Given the description of an element on the screen output the (x, y) to click on. 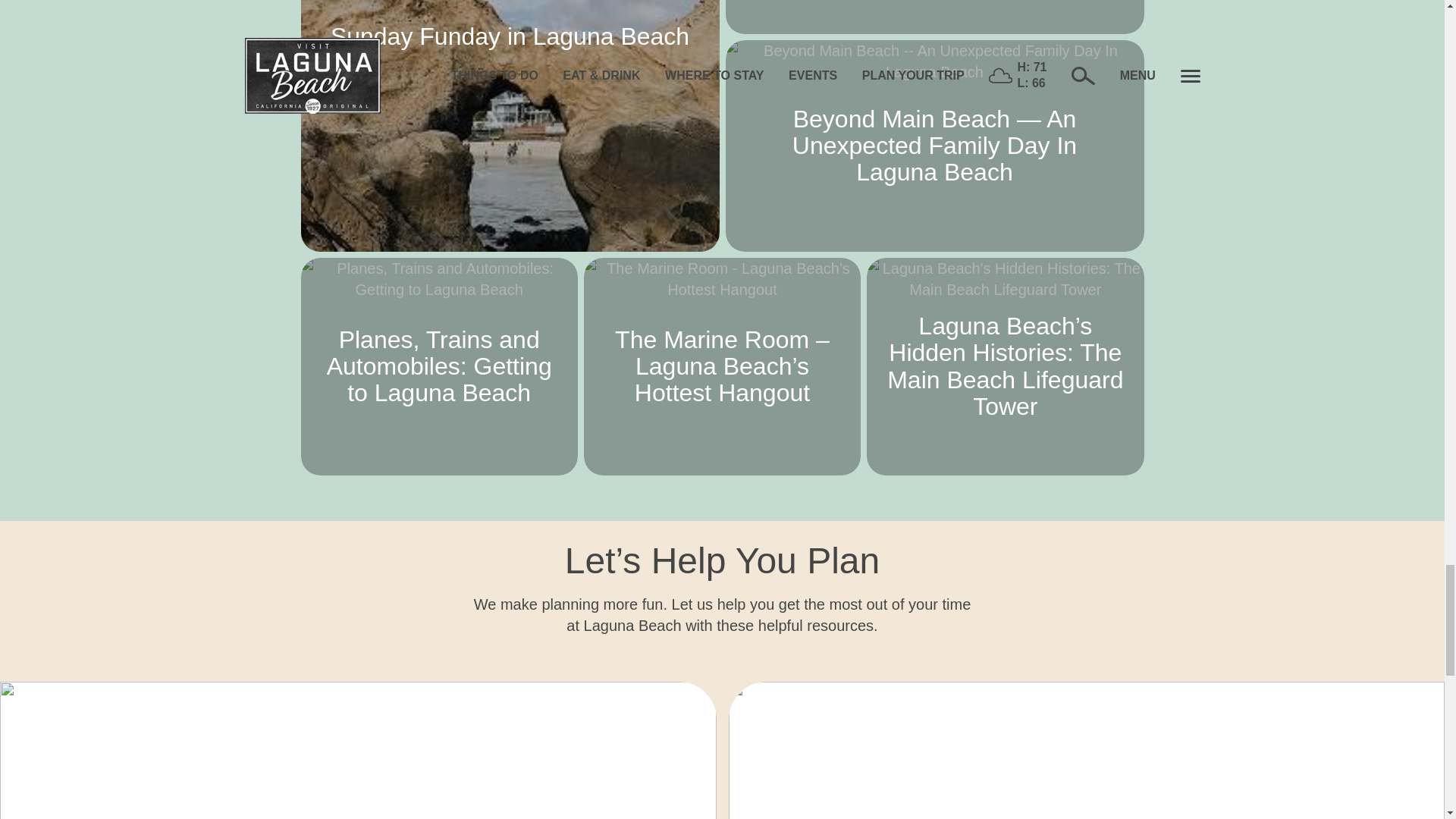
Planes, Trains and Automobiles: Getting to Laguna Beach (437, 366)
Indulgent Eats in Laguna Beach (933, 17)
Sunday Funday in Laguna Beach (509, 125)
The Marine Room - Laguna Beach's Hottest Hangout (721, 366)
